Given the description of an element on the screen output the (x, y) to click on. 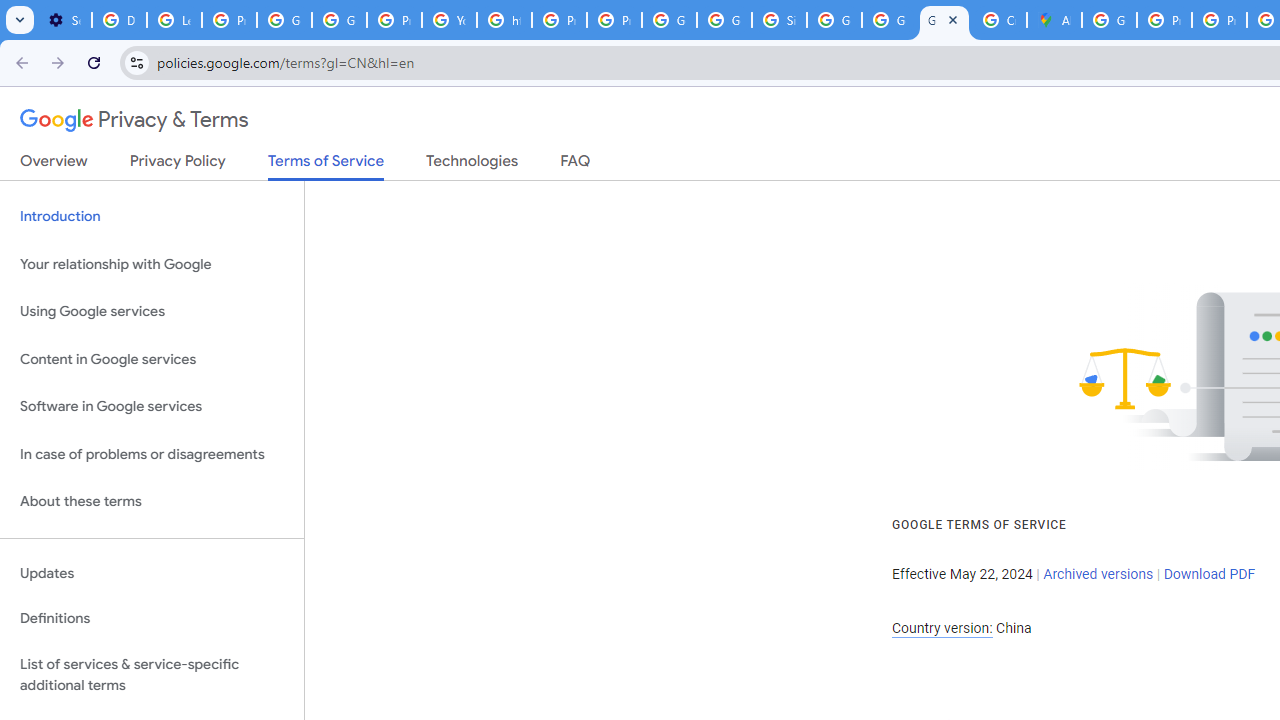
Google Account Help (284, 20)
Delete photos & videos - Computer - Google Photos Help (119, 20)
Content in Google services (152, 358)
Your relationship with Google (152, 263)
Settings - On startup (64, 20)
Country version: (942, 628)
Privacy Help Center - Policies Help (1163, 20)
Archived versions (1098, 574)
